Given the description of an element on the screen output the (x, y) to click on. 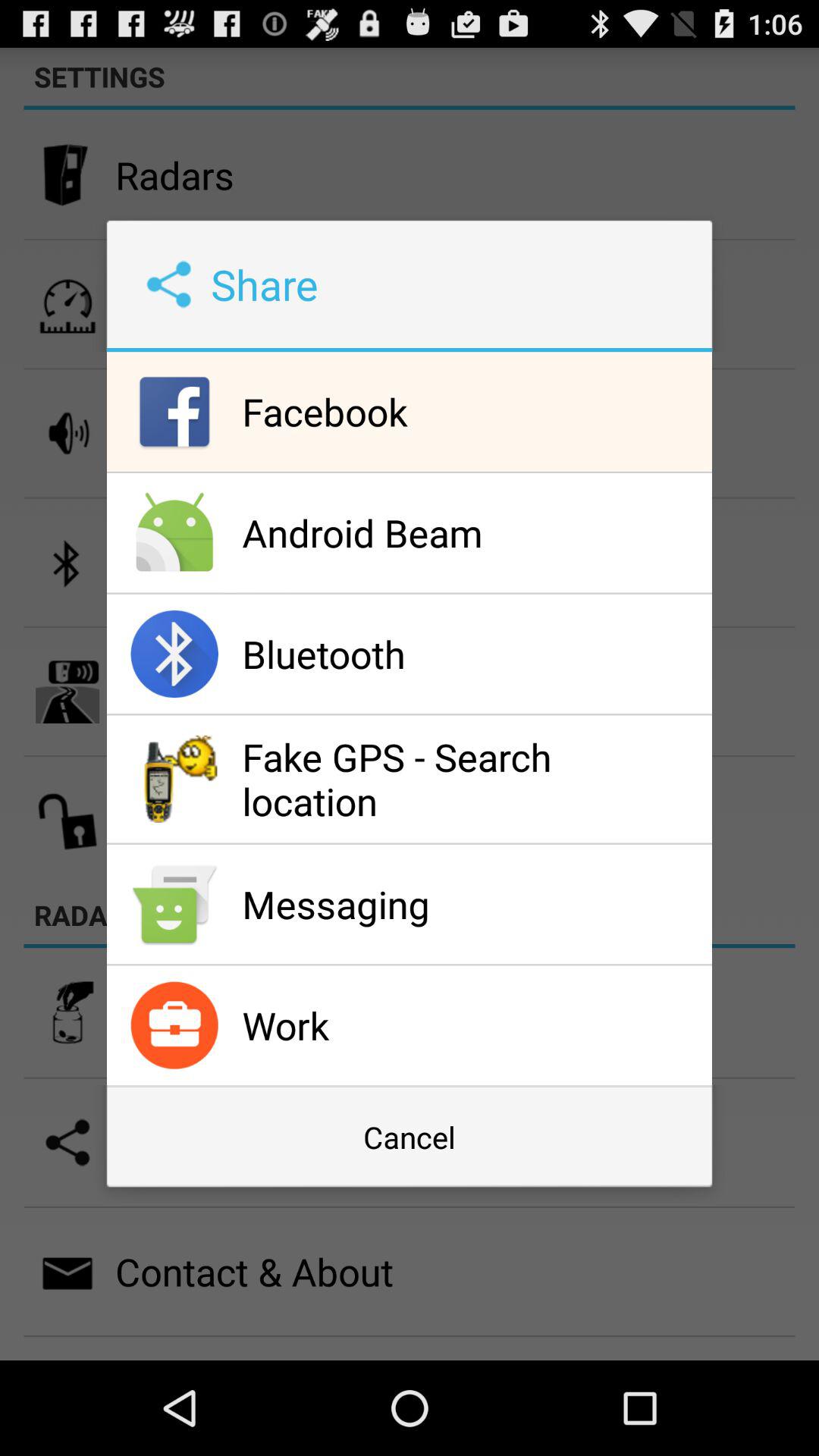
select the fake gps search app (473, 778)
